Given the description of an element on the screen output the (x, y) to click on. 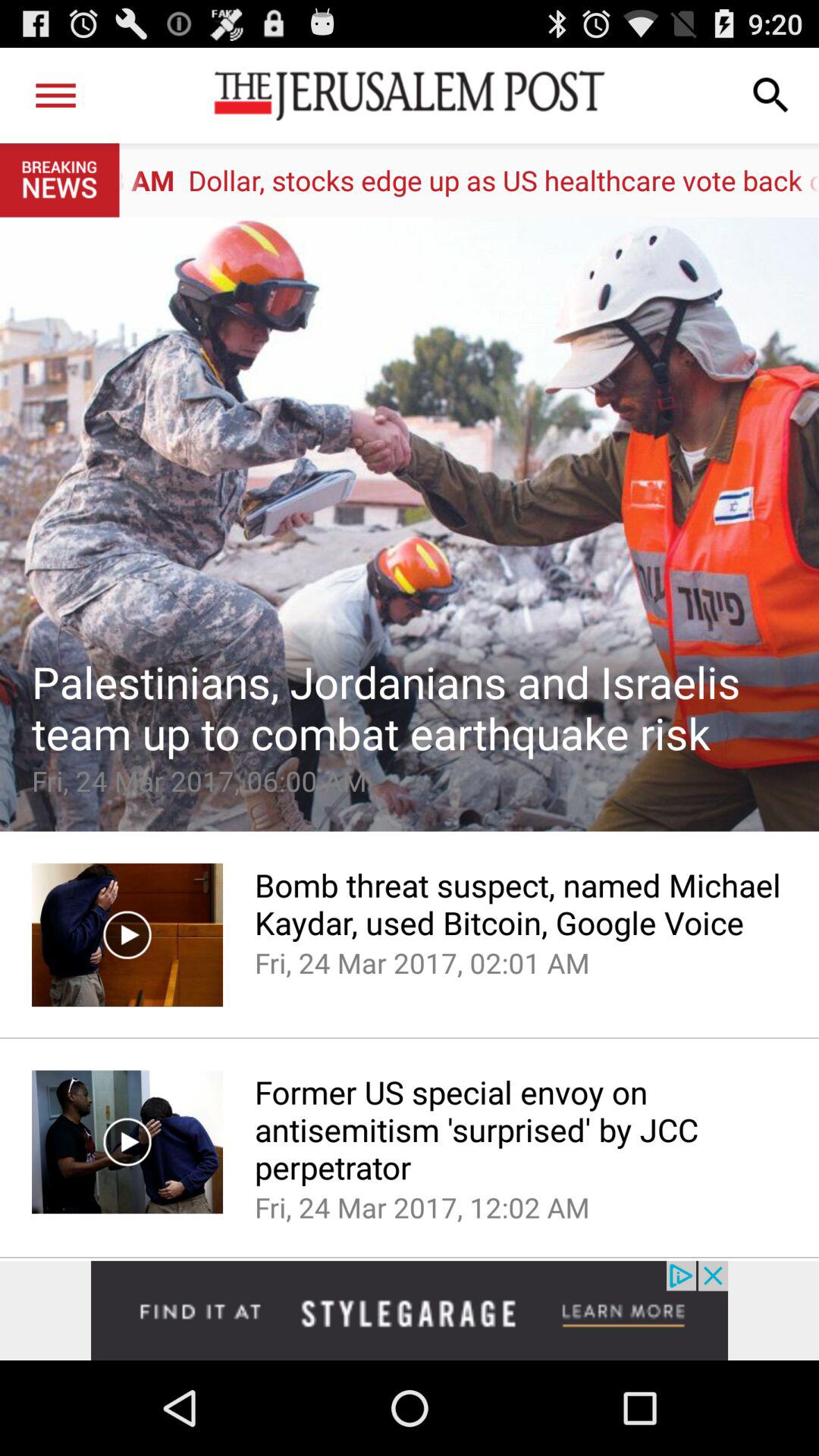
open advertisement (409, 1310)
